Given the description of an element on the screen output the (x, y) to click on. 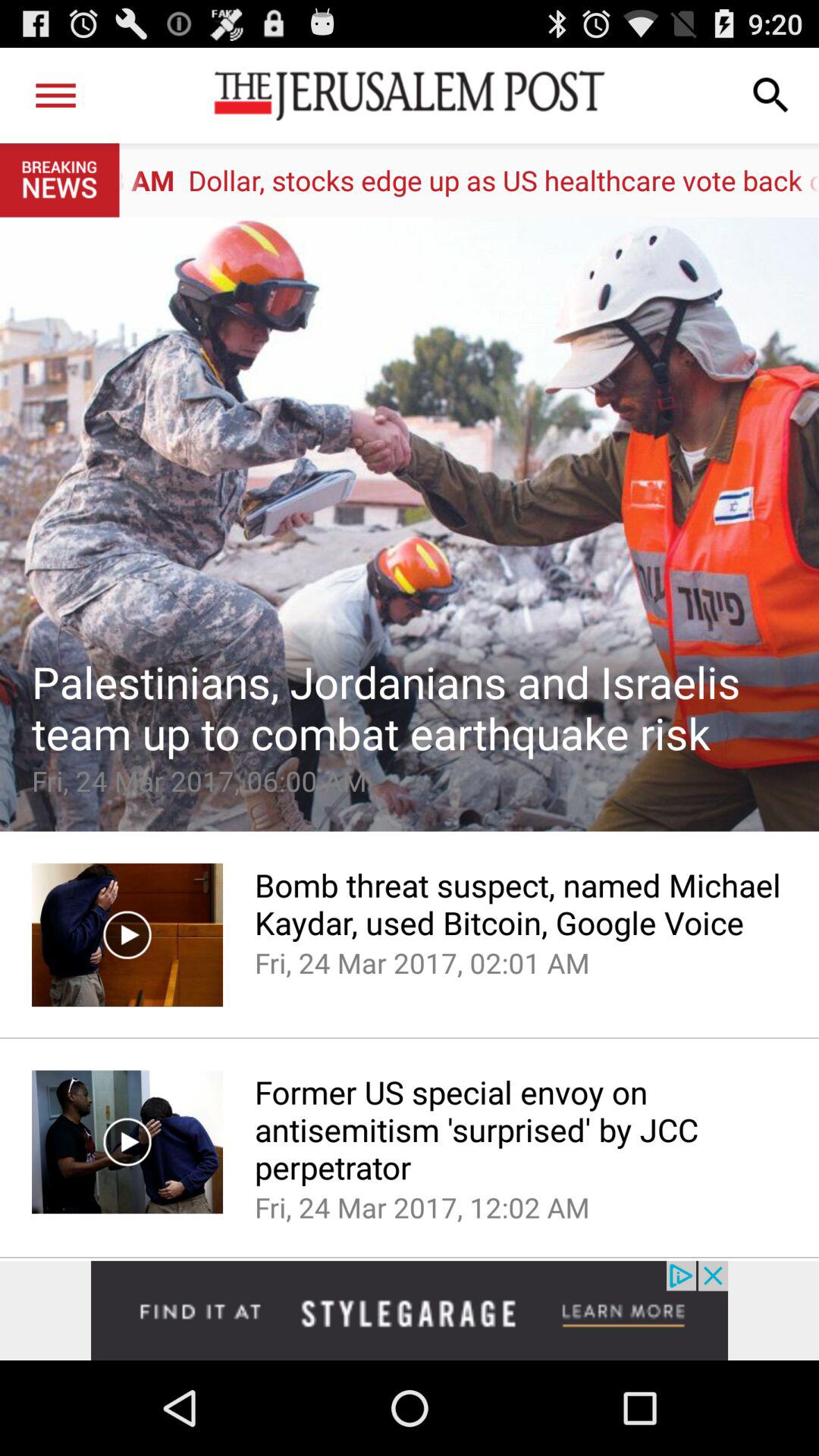
open advertisement (409, 1310)
